Given the description of an element on the screen output the (x, y) to click on. 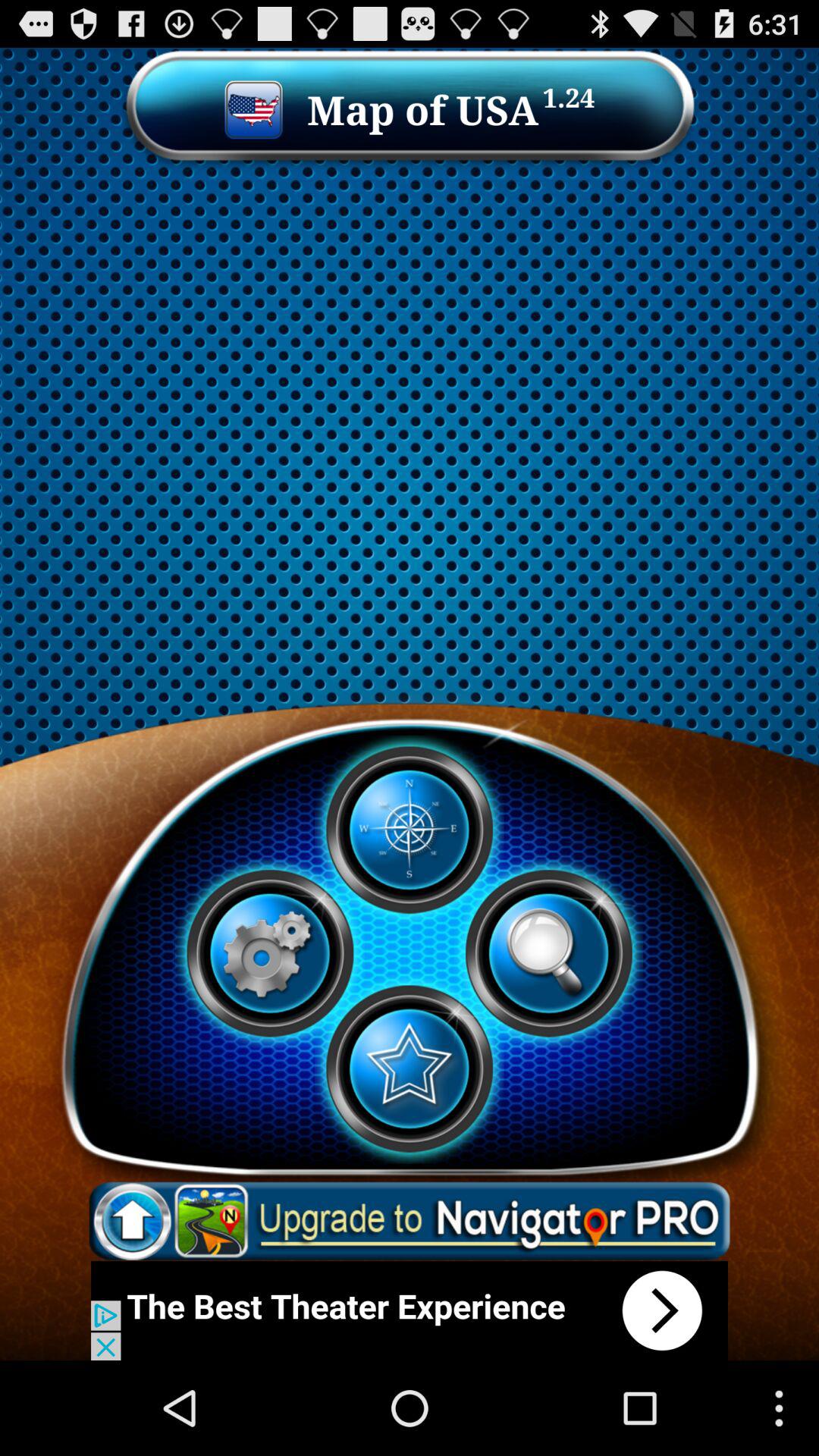
the element is an advertisement (409, 1310)
